Given the description of an element on the screen output the (x, y) to click on. 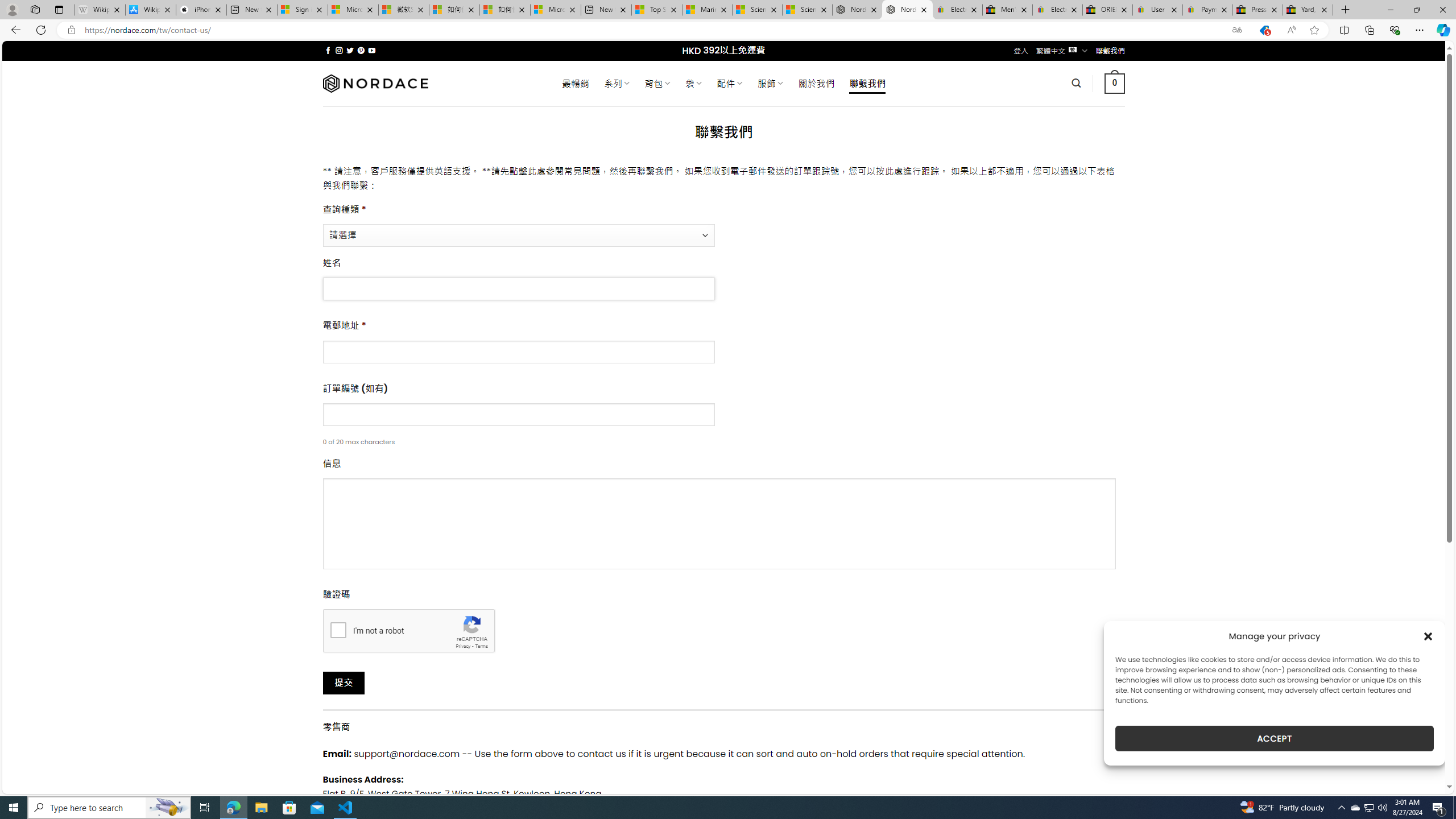
Nordace (374, 83)
Privacy (462, 646)
This site has coupons! Shopping in Microsoft Edge, 5 (1263, 29)
Yard, Garden & Outdoor Living (1308, 9)
Follow on YouTube (371, 50)
